Given the description of an element on the screen output the (x, y) to click on. 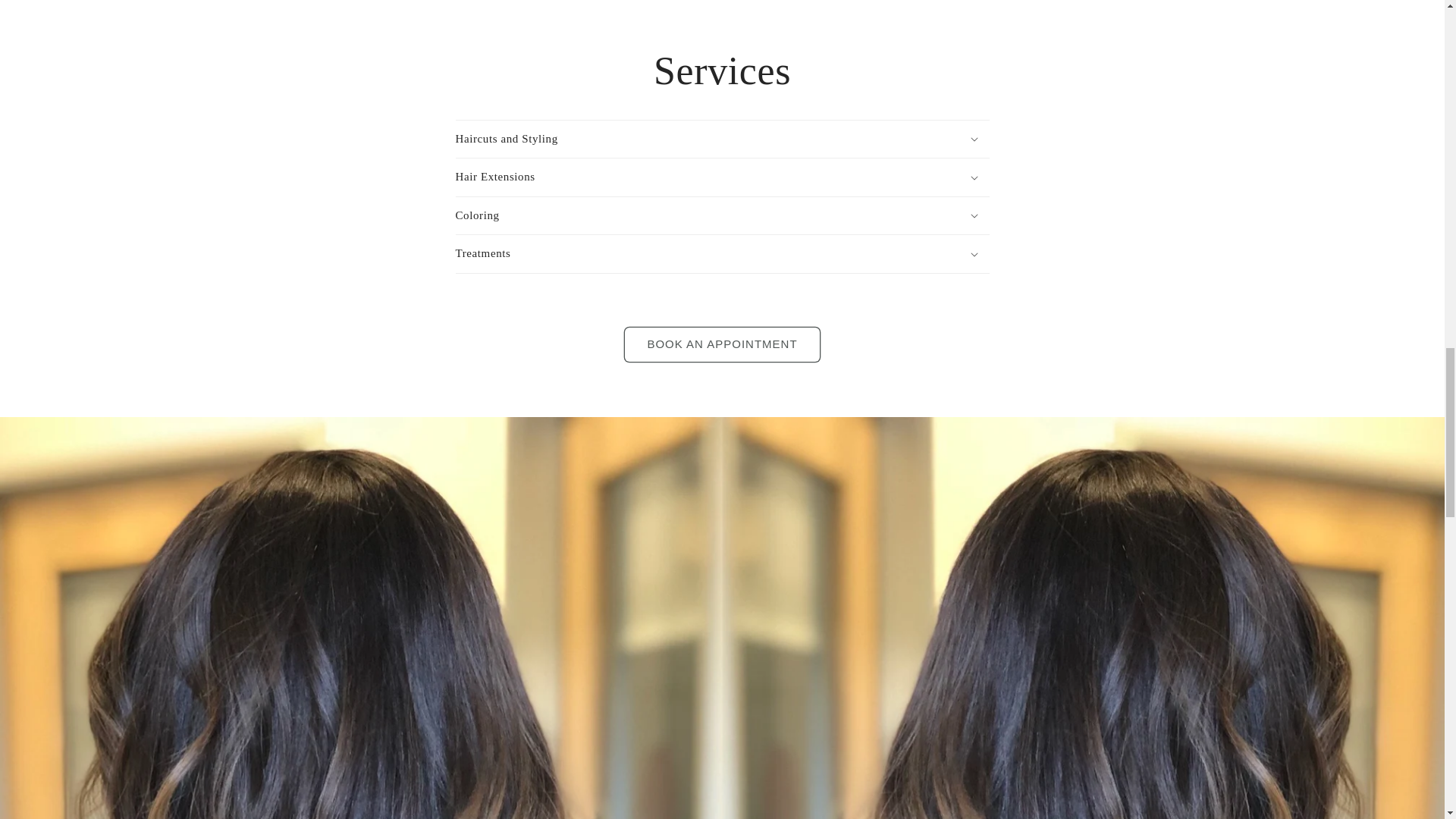
BOOK AN APPOINTMENT (721, 344)
